Given the description of an element on the screen output the (x, y) to click on. 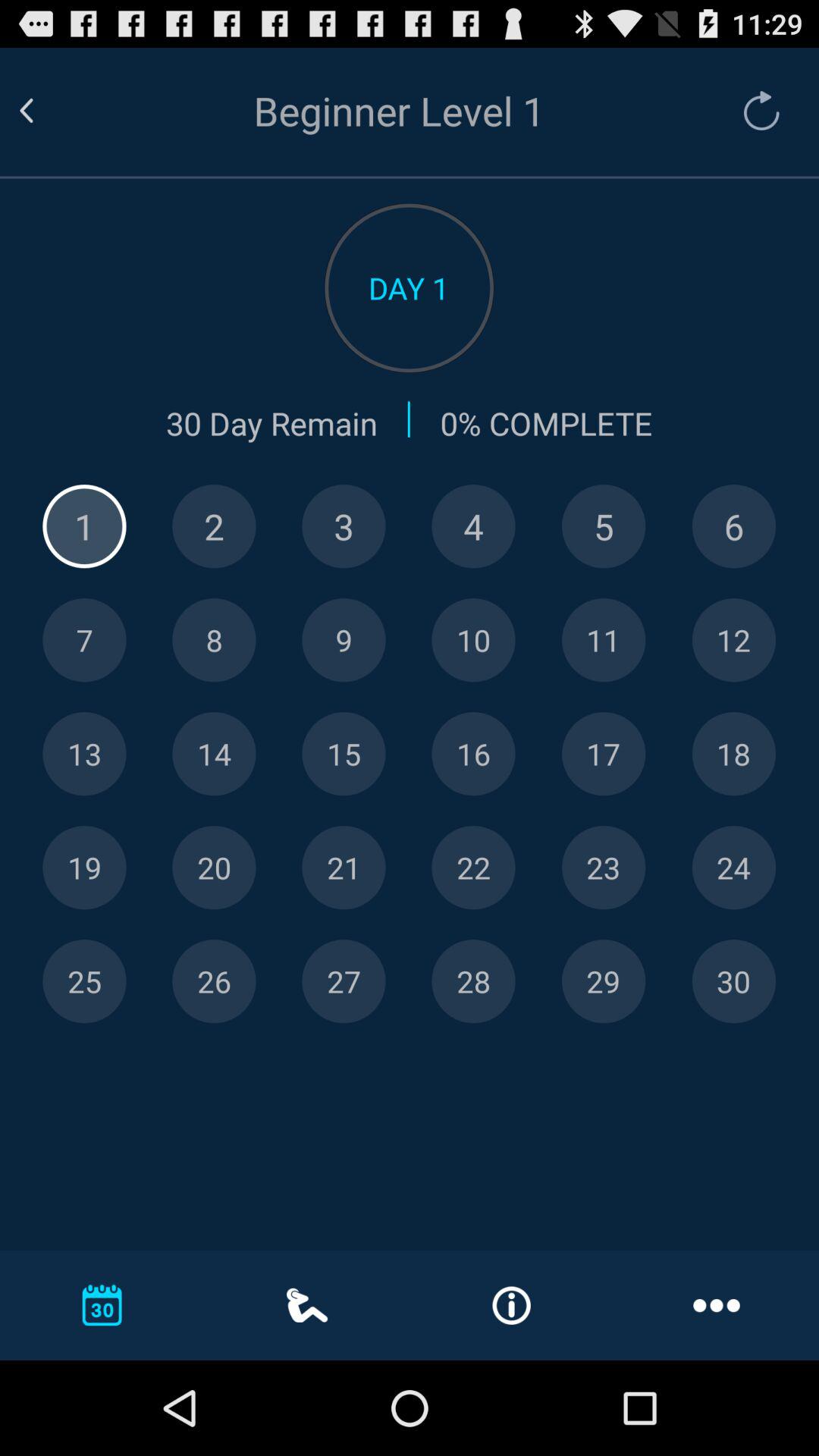
shows number 24 (733, 867)
